Given the description of an element on the screen output the (x, y) to click on. 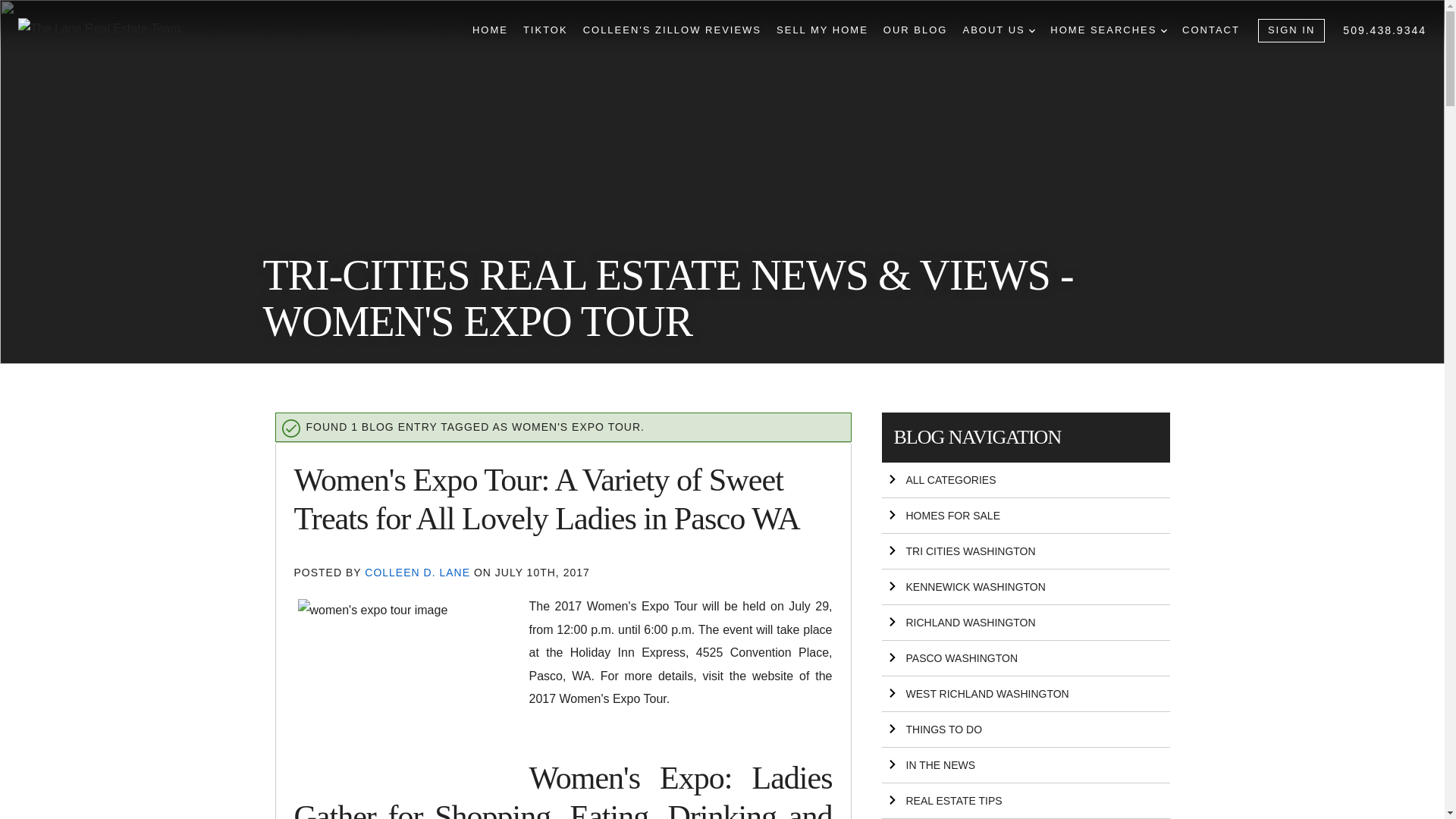
COLLEEN'S ZILLOW REVIEWS (672, 30)
DROPDOWN ARROW (1163, 30)
ABOUT US DROPDOWN ARROW (998, 30)
DROPDOWN ARROW (1032, 30)
CONTACT (1211, 30)
HOME SEARCHES DROPDOWN ARROW (1108, 30)
OUR BLOG (915, 30)
TIKTOK (544, 30)
SELL MY HOME (821, 30)
HOME (489, 30)
